Given the description of an element on the screen output the (x, y) to click on. 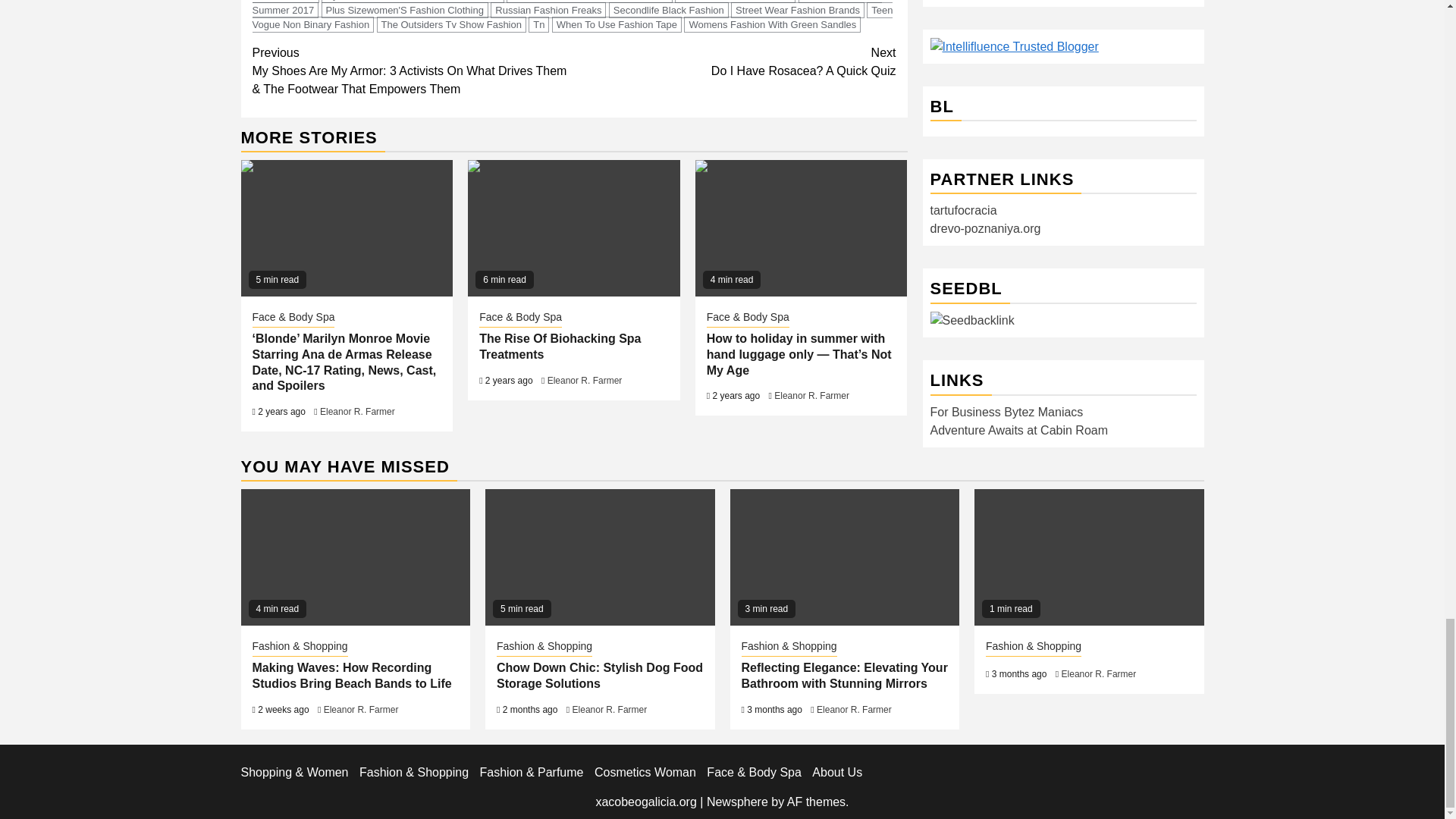
The Rise Of Biohacking Spa Treatments (573, 227)
